Given the description of an element on the screen output the (x, y) to click on. 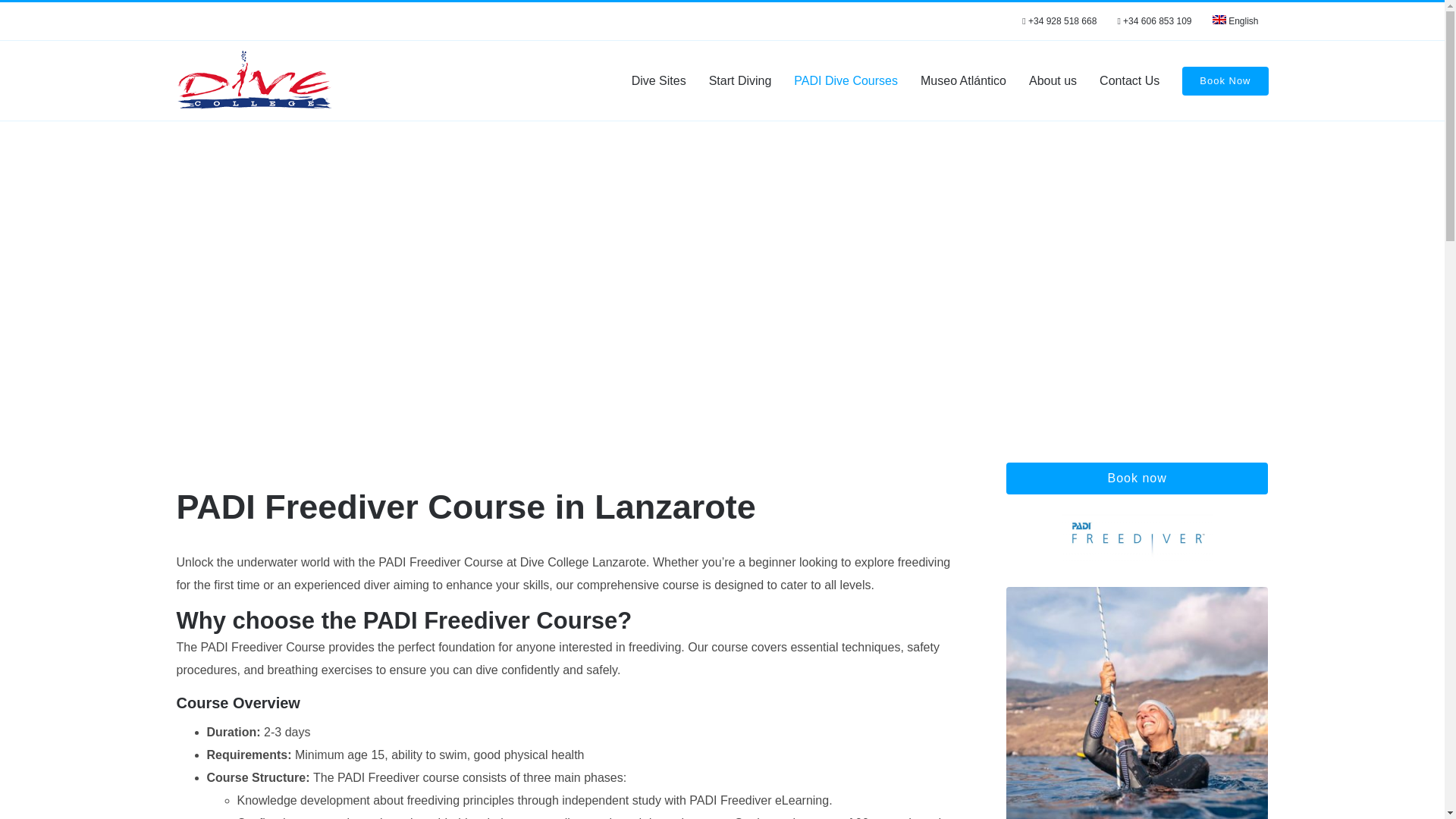
menubook (1225, 80)
English (1235, 21)
English (1235, 21)
PADI Dive Courses (845, 80)
freedivinglogo (1136, 540)
Mara-Guida-Freediving (1137, 703)
